Given the description of an element on the screen output the (x, y) to click on. 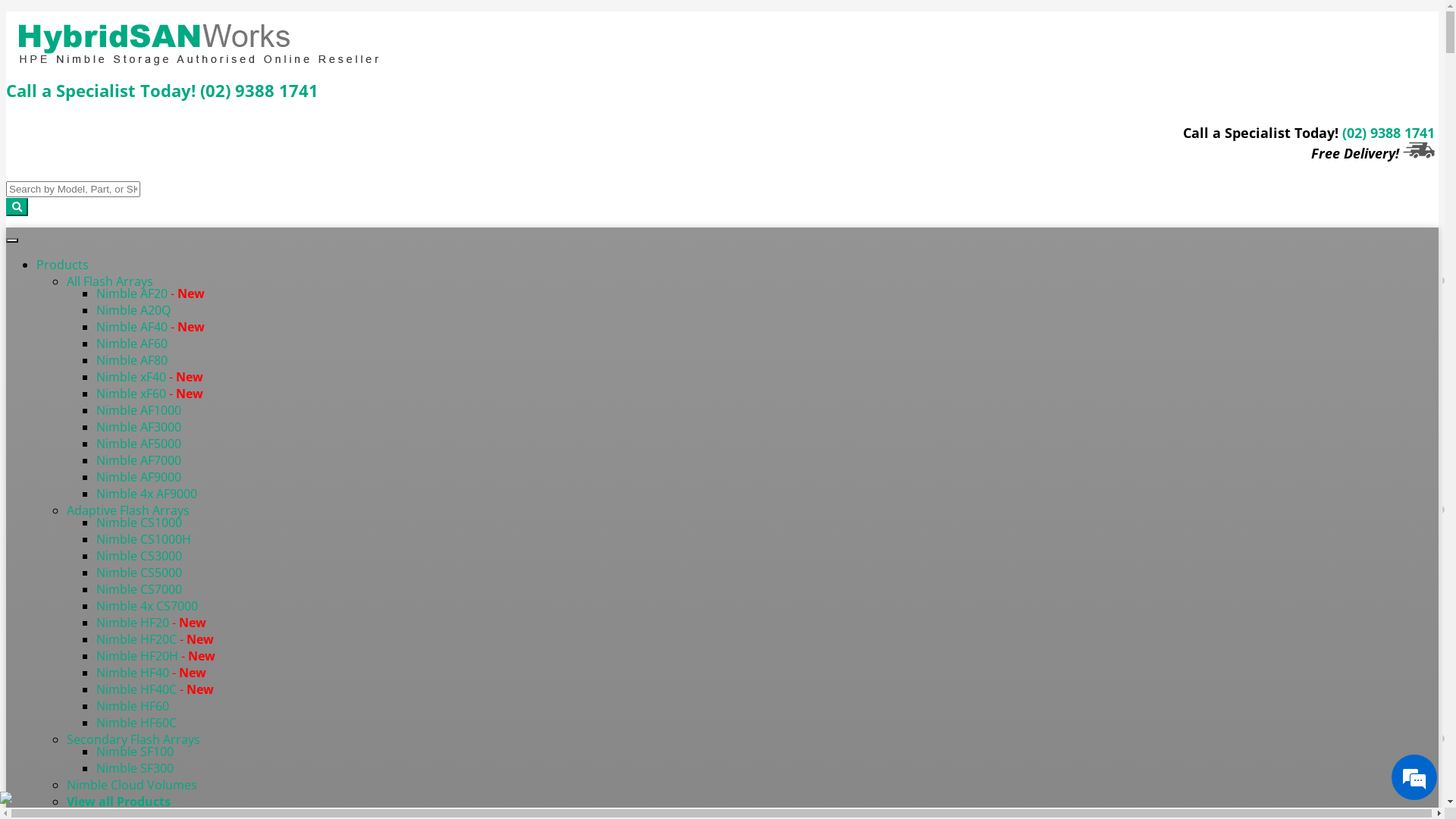
Nimble AF5000 Element type: text (138, 443)
Nimble CS1000H Element type: text (143, 538)
Nimble HF40 - New Element type: text (151, 672)
All Flash Arrays Element type: text (109, 281)
(02) 9388 1741 Element type: text (1388, 132)
Nimble A20Q Element type: text (133, 309)
View all Products Element type: text (118, 801)
Nimble 4x AF9000 Element type: text (146, 493)
Nimble SF300 Element type: text (134, 767)
Nimble 4x CS7000 Element type: text (146, 605)
Adaptive Flash Arrays Element type: text (127, 510)
Nimble AF20 - New Element type: text (150, 293)
Nimble HF20C - New Element type: text (154, 638)
Nimble Cloud Volumes Element type: text (131, 784)
Nimble xF60 - New Element type: text (149, 393)
Nimble HF60 Element type: text (132, 705)
Nimble CS5000 Element type: text (139, 572)
Nimble CS3000 Element type: text (139, 555)
Nimble HF60C Element type: text (136, 722)
Nimble SF100 Element type: text (134, 751)
Nimble AF3000 Element type: text (138, 426)
Nimble HF40C - New Element type: text (154, 688)
Products Element type: text (62, 264)
Nimble AF80 Element type: text (131, 359)
Nimble HF20H - New Element type: text (155, 655)
Nimble AF1000 Element type: text (138, 409)
Nimble AF7000 Element type: text (138, 459)
Nimble AF40 - New Element type: text (150, 326)
Toggle navigation Element type: text (12, 240)
Secondary Flash Arrays Element type: text (133, 739)
(02) 9388 1741 Element type: text (259, 89)
Nimble AF9000 Element type: text (138, 476)
Nimble HF20 - New Element type: text (151, 622)
Nimble CS1000 Element type: text (139, 522)
Nimble AF60 Element type: text (131, 343)
Nimble xF40 - New Element type: text (149, 376)
Nimble CS7000 Element type: text (139, 588)
